Given the description of an element on the screen output the (x, y) to click on. 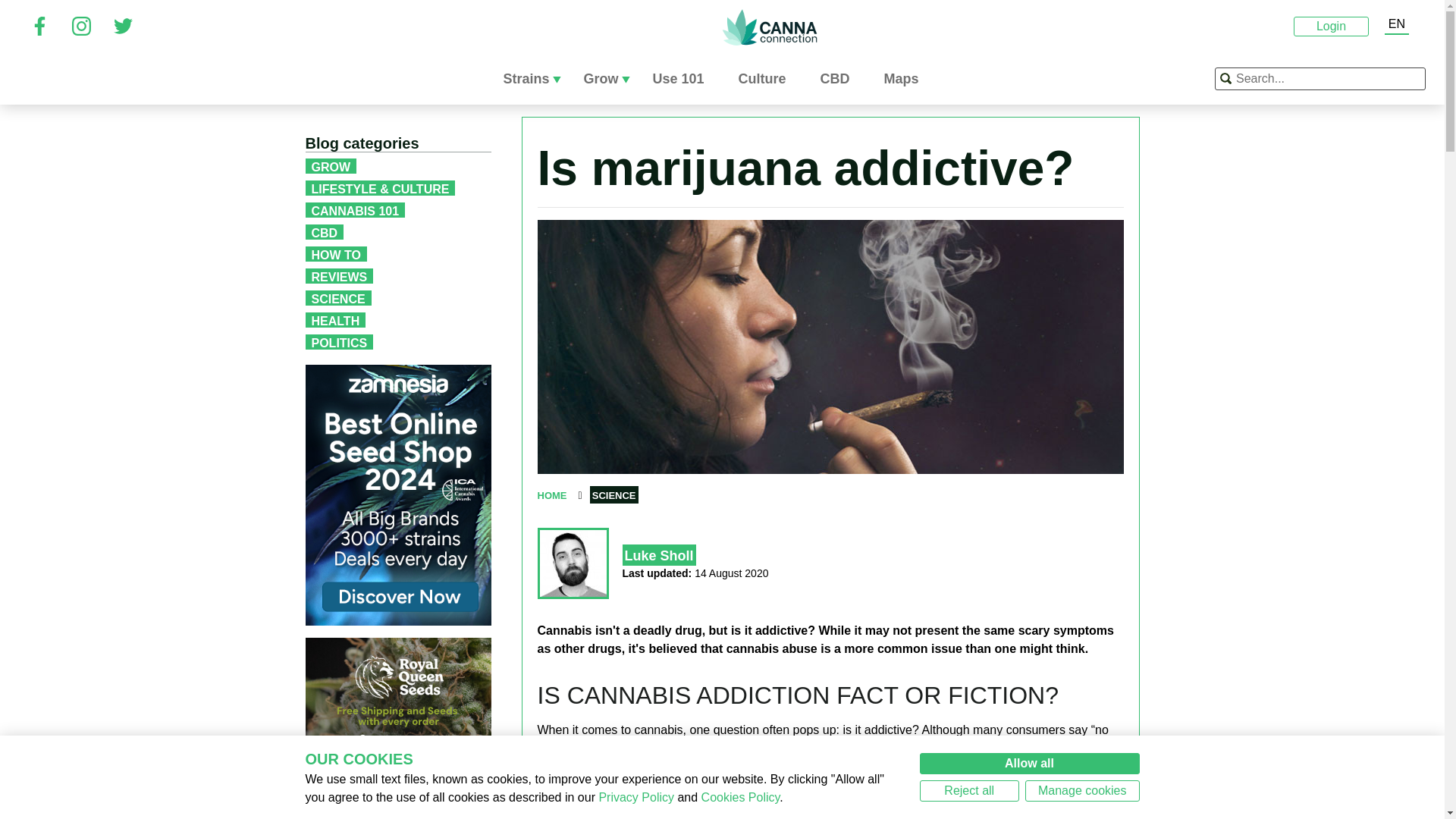
Strains (531, 79)
Use 101 (683, 79)
Grow (605, 79)
CBD (841, 79)
CannaConnection.com (769, 26)
Strains (531, 79)
Grow (605, 79)
Culture (767, 79)
CannaConnection.com (769, 26)
Maps (906, 79)
